Given the description of an element on the screen output the (x, y) to click on. 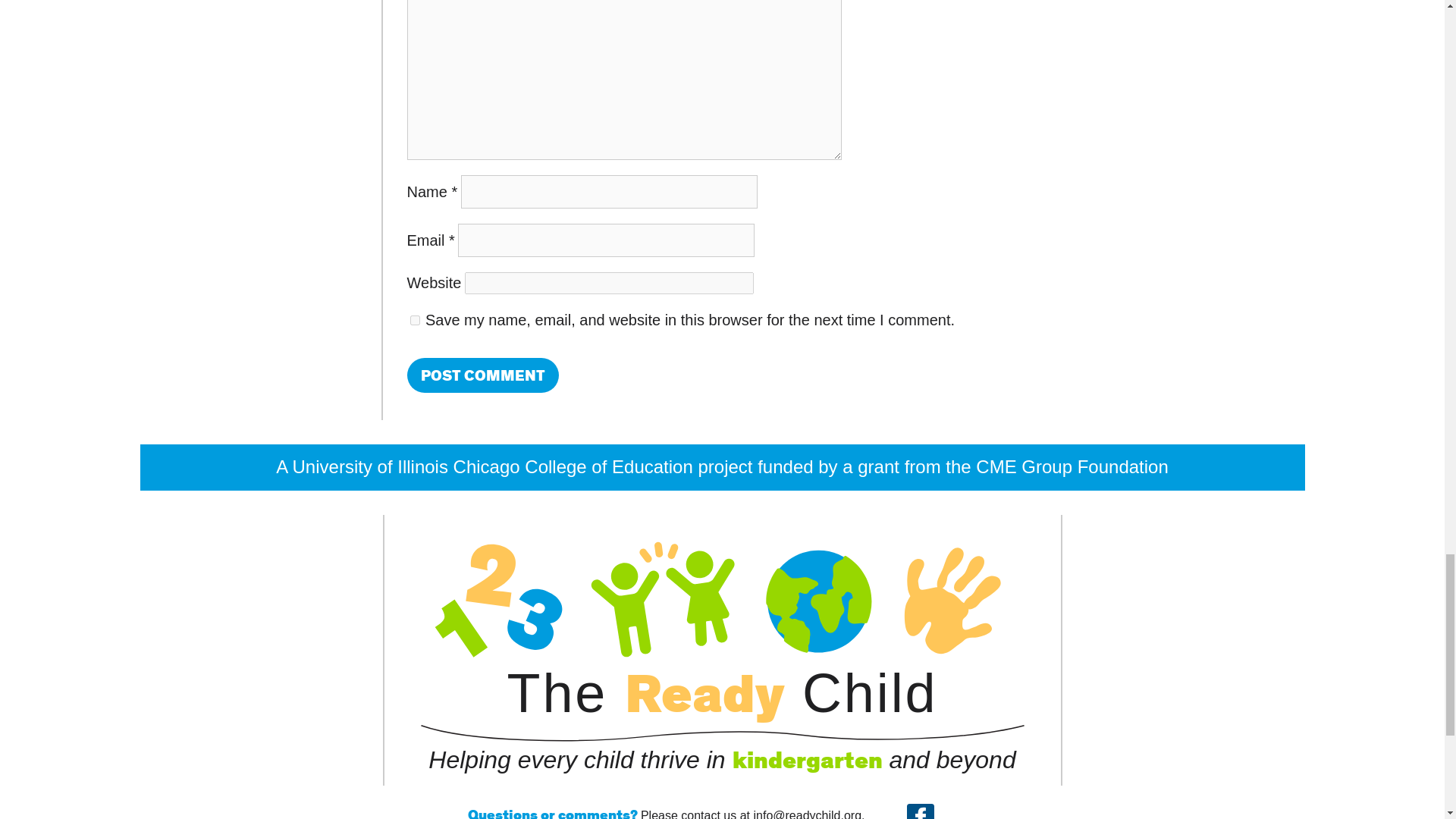
Post Comment (481, 375)
yes (414, 320)
